Given the description of an element on the screen output the (x, y) to click on. 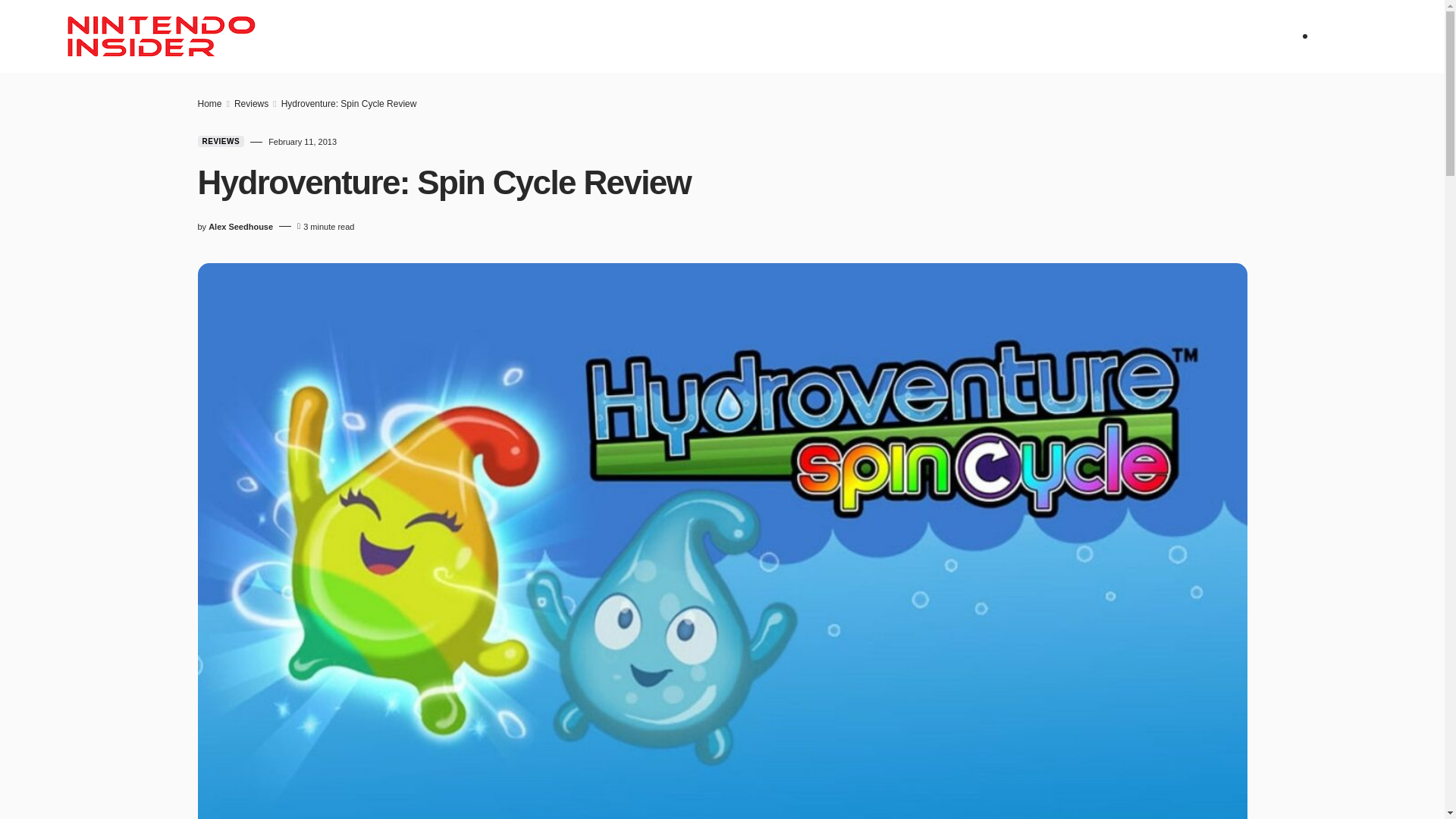
Features (625, 36)
NEWS (409, 36)
GUIDES (695, 36)
PREVIEWS (546, 36)
INTERVIEWS (770, 36)
HOME (355, 36)
FEATURES (625, 36)
Previews (546, 36)
REVIEWS (472, 36)
News (409, 36)
